Given the description of an element on the screen output the (x, y) to click on. 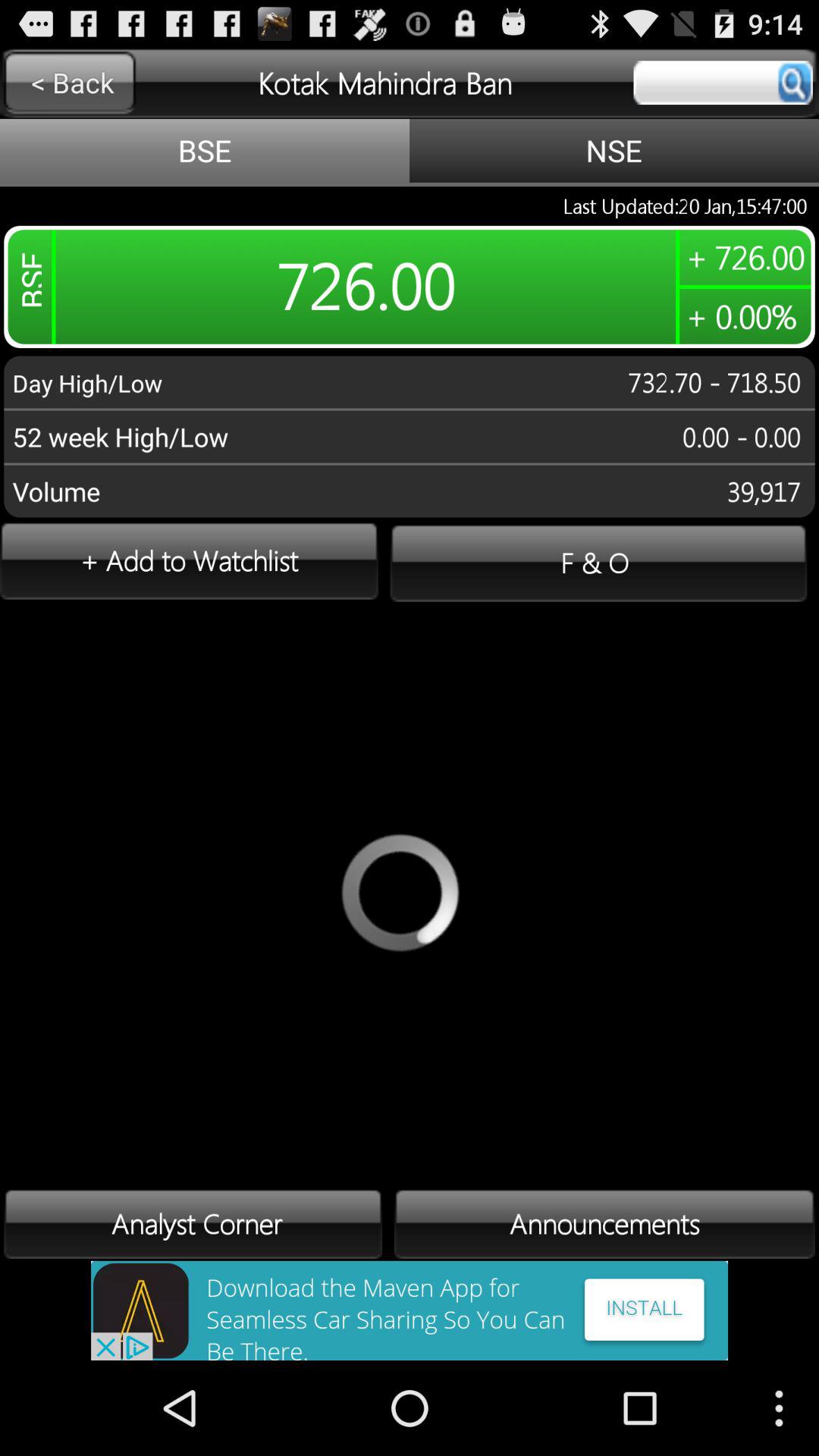
open banner advertisement (409, 1310)
